Given the description of an element on the screen output the (x, y) to click on. 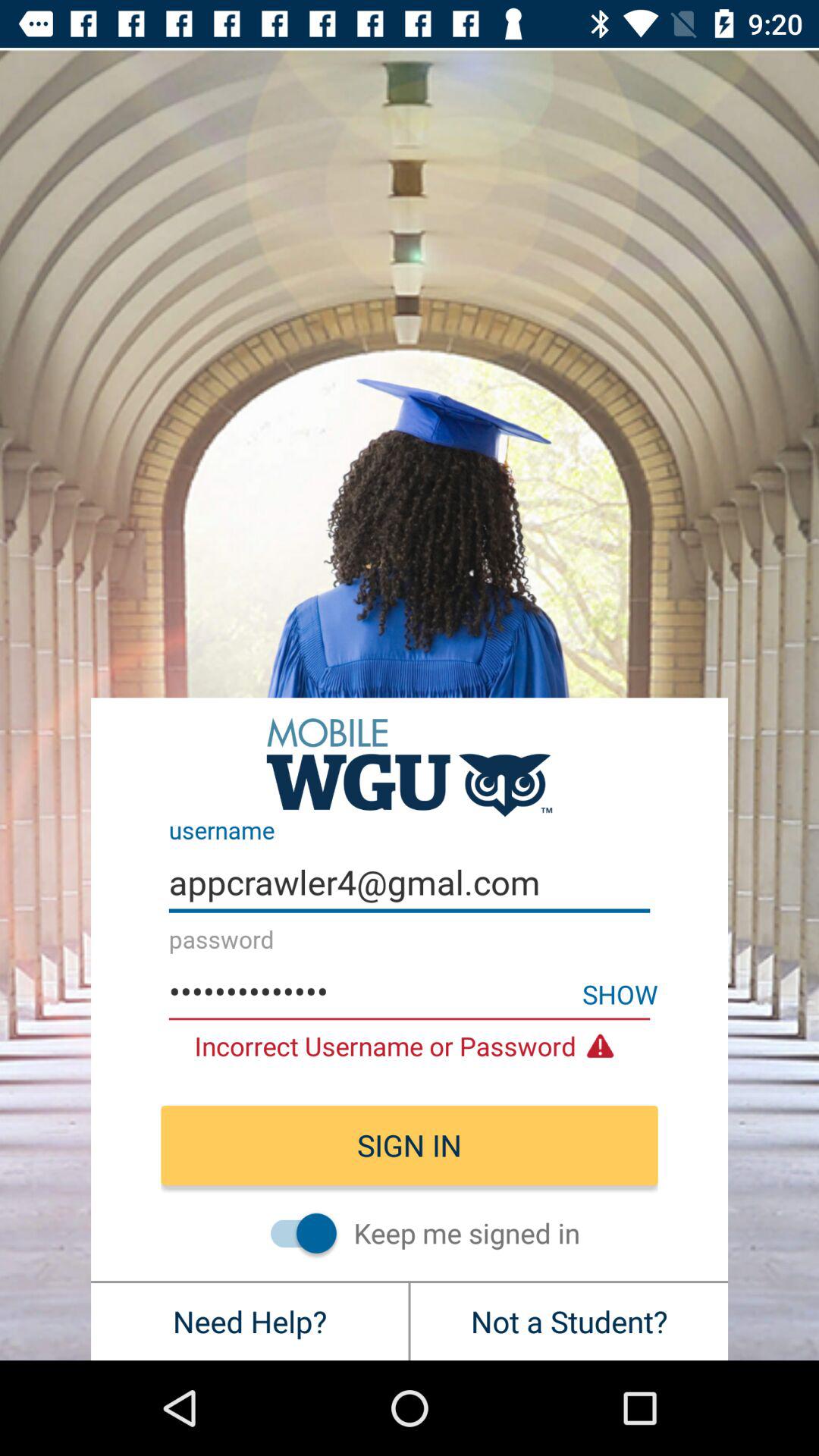
tap not a student? (569, 1321)
